Given the description of an element on the screen output the (x, y) to click on. 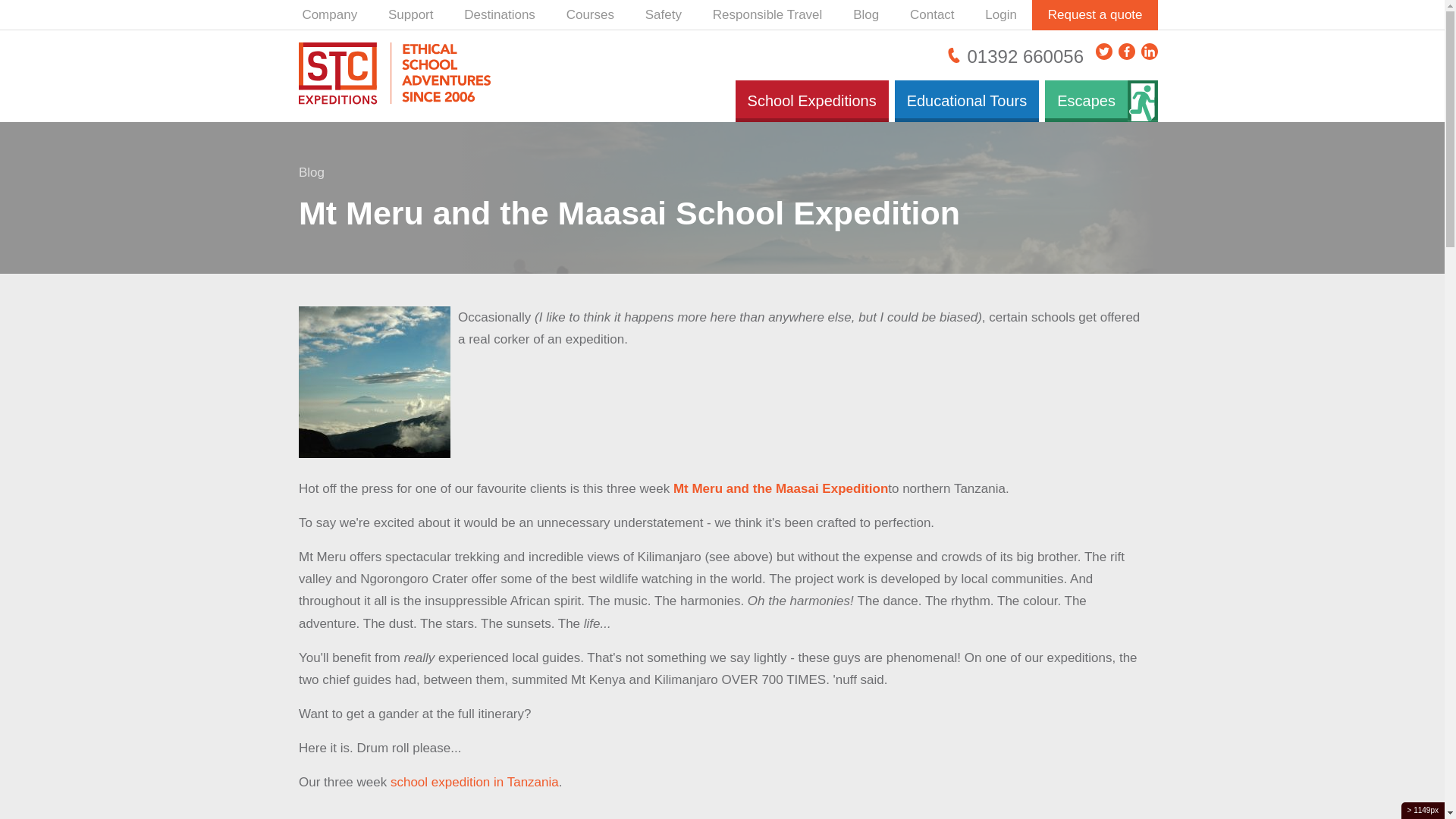
Call us on 01392 660056 (1015, 56)
Courses (590, 15)
Return Home (400, 75)
Support (410, 15)
School Expeditions (811, 101)
01392 660056 (1015, 56)
Escapes (1085, 101)
Company (328, 15)
Educational Tours (967, 101)
Destinations (499, 15)
